Given the description of an element on the screen output the (x, y) to click on. 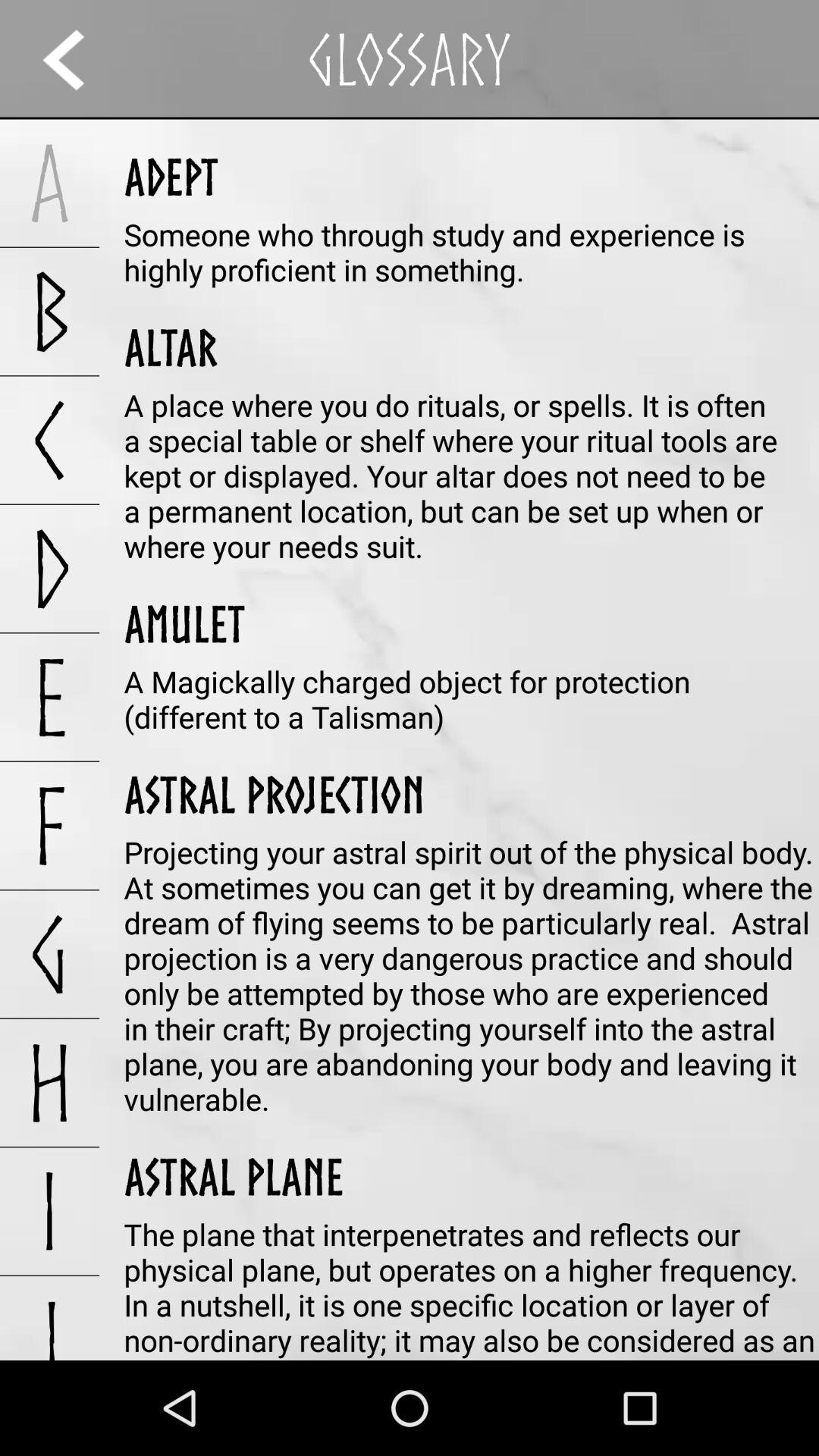
scroll until i (49, 1211)
